Given the description of an element on the screen output the (x, y) to click on. 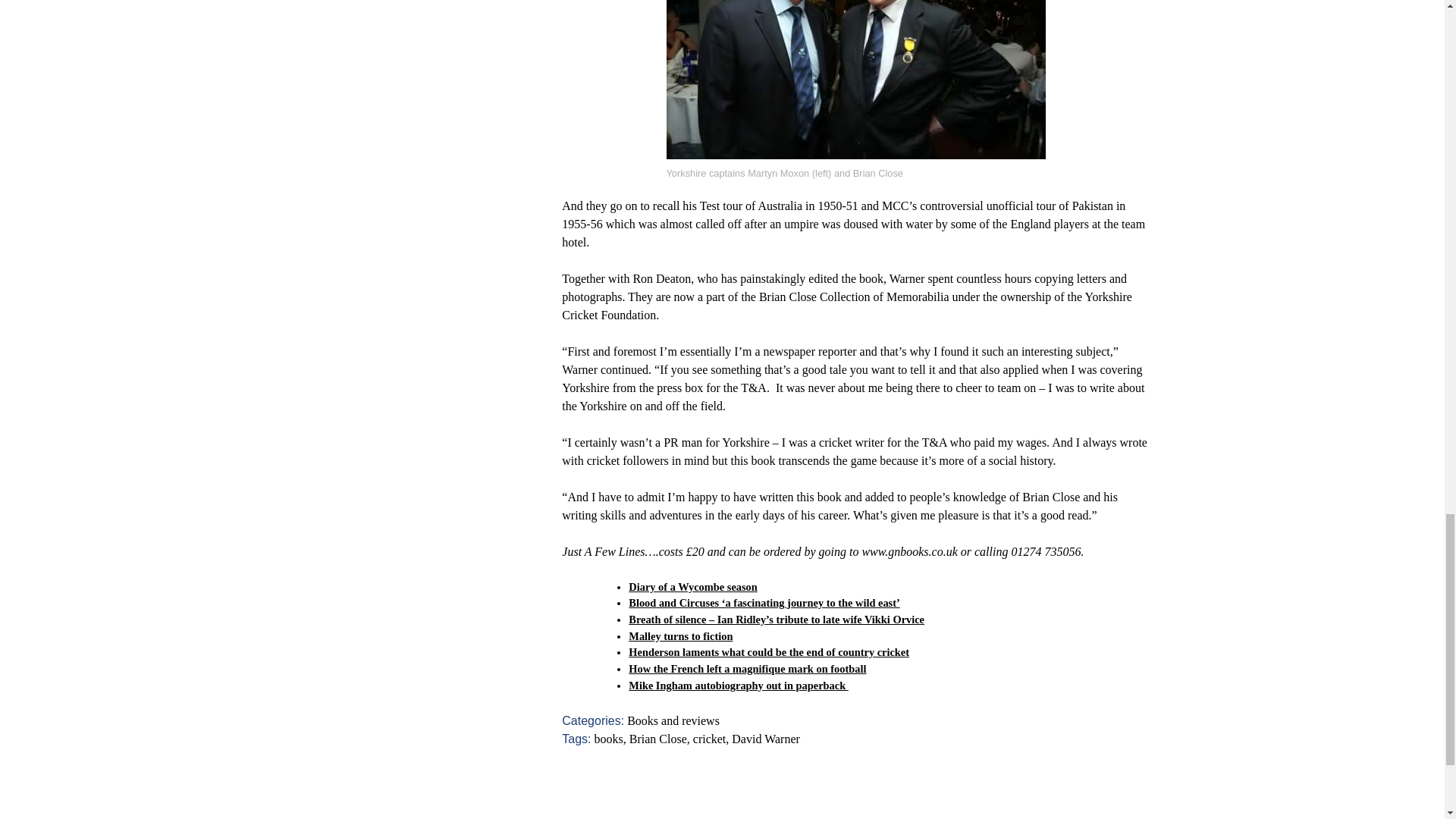
How the French left a magnifique mark on football (747, 668)
Books and reviews (673, 720)
Malley turns to fiction (680, 635)
David Warner (765, 738)
Brian Close (657, 738)
Henderson laments what could be the end of country cricket (768, 652)
Mike Ingham autobiography out in paperback  (737, 685)
cricket (709, 738)
Diary of a Wycombe season (692, 586)
books (608, 738)
